Given the description of an element on the screen output the (x, y) to click on. 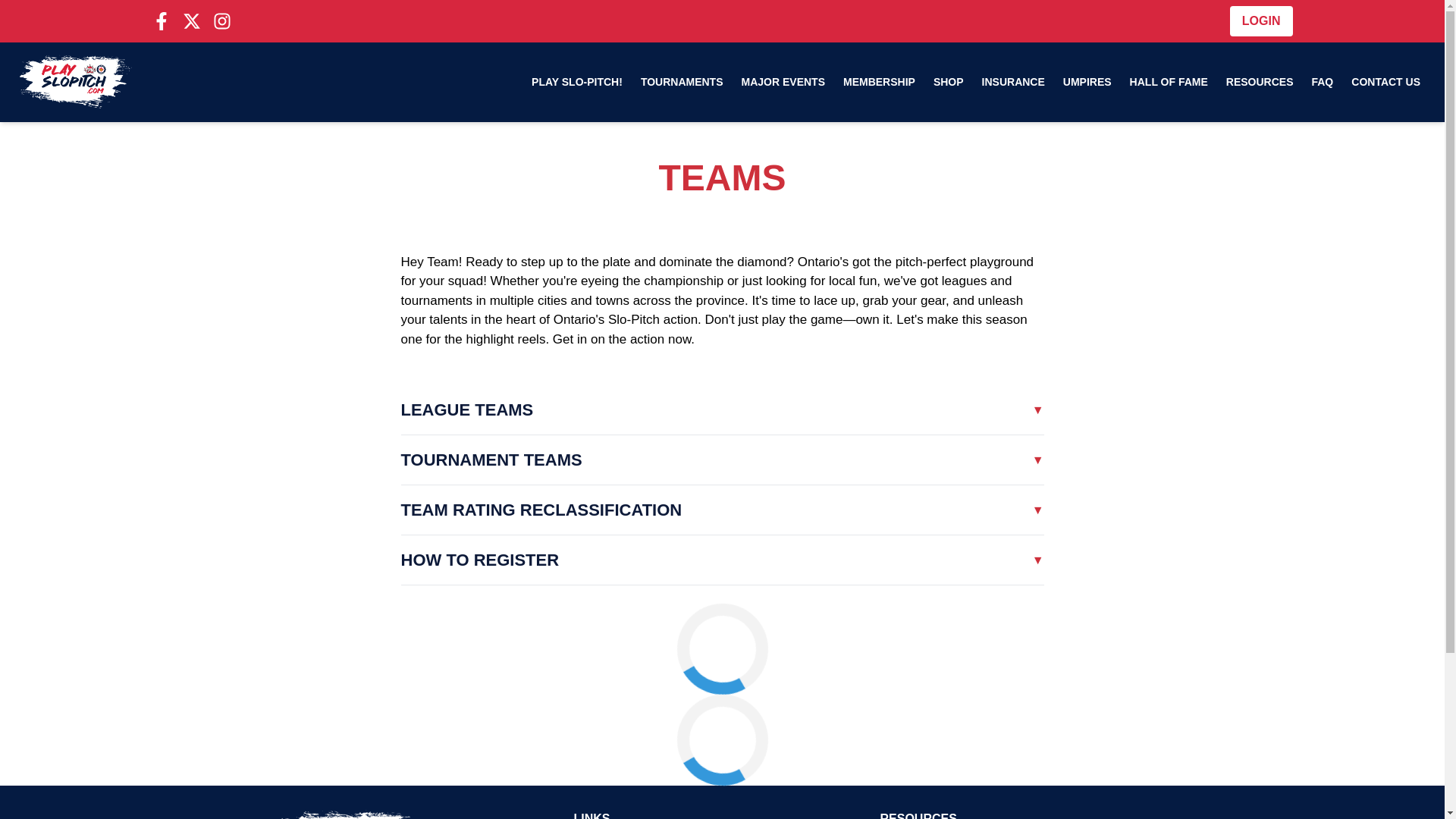
UMPIRES (1087, 81)
RESOURCES (1260, 81)
INSURANCE (1013, 81)
TOURNAMENTS (681, 81)
PLAY SLO-PITCH! (576, 81)
SHOP (948, 81)
HALL OF FAME (1169, 81)
MEMBERSHIP (879, 81)
MAJOR EVENTS (783, 81)
LOGIN (1261, 20)
